Given the description of an element on the screen output the (x, y) to click on. 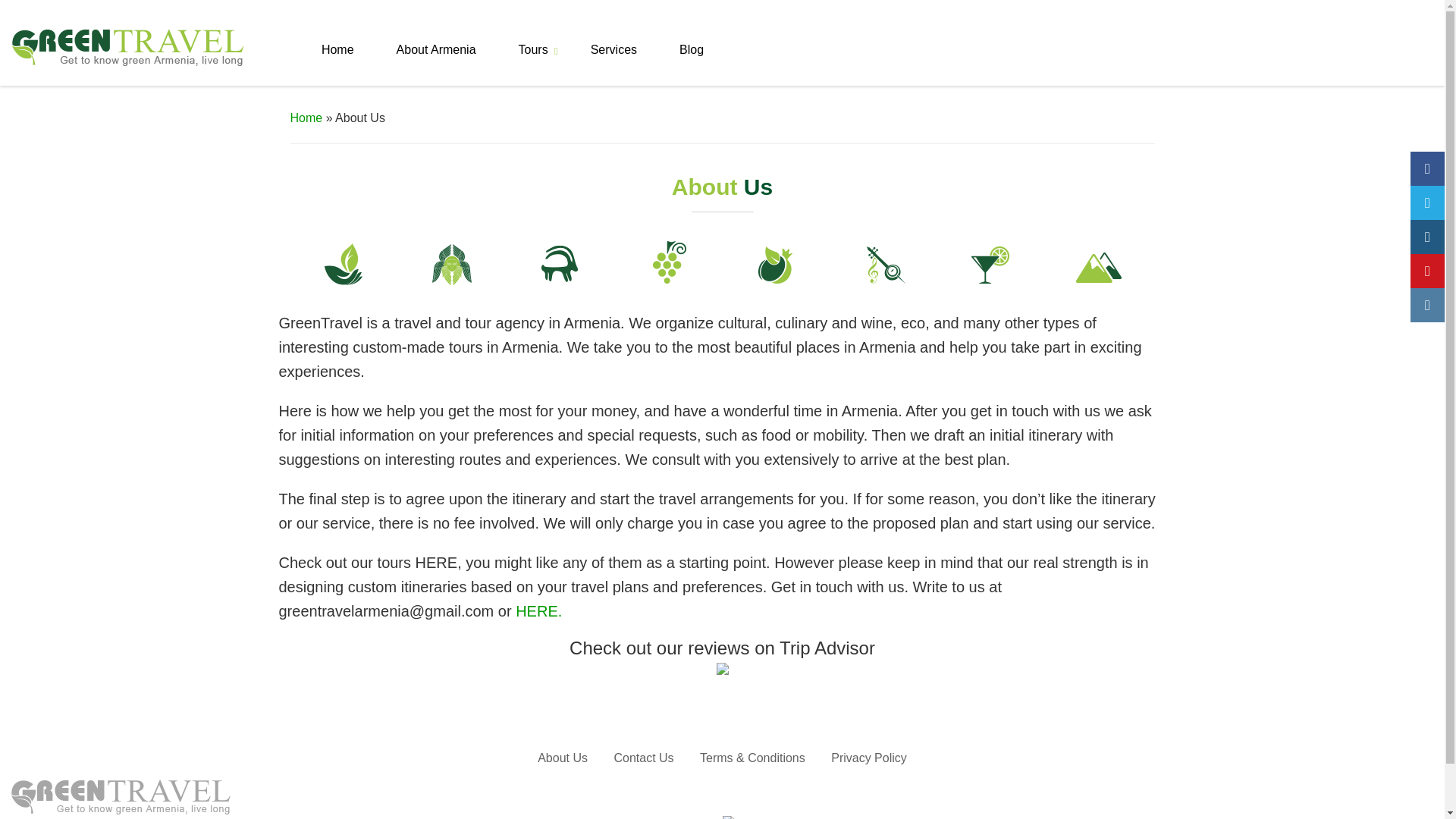
Home (305, 117)
Services (613, 63)
HERE. (538, 610)
Privacy Policy (869, 757)
About Armenia (436, 63)
Home (337, 63)
Blog (691, 63)
Contact Us (642, 757)
About Us (562, 757)
Tours (533, 63)
